Given the description of an element on the screen output the (x, y) to click on. 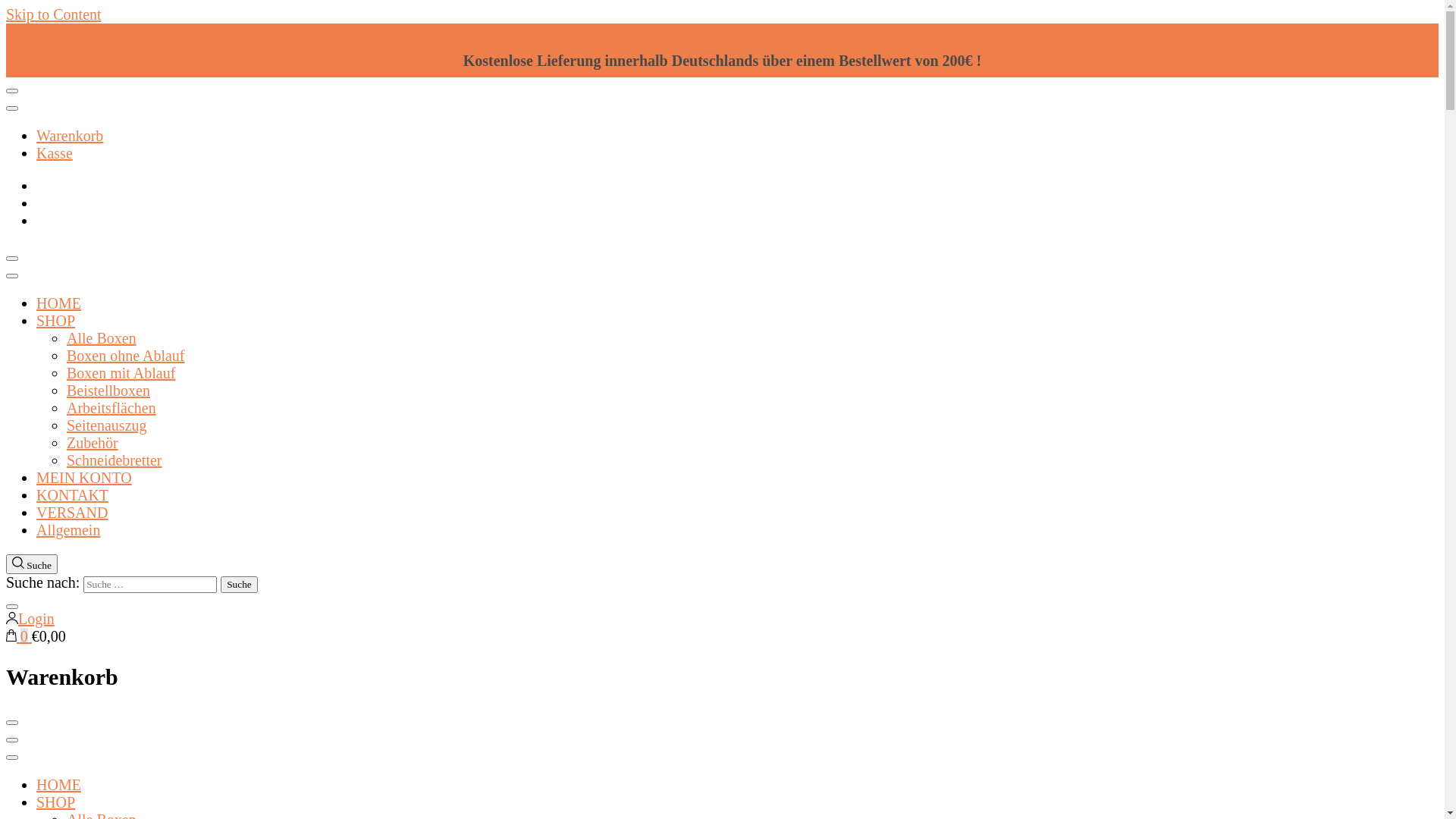
XOBI Element type: text (24, 268)
SHOP Element type: text (55, 320)
0 Element type: text (18, 635)
Beistellboxen Element type: text (108, 390)
Alle Boxen Element type: text (101, 337)
MEIN KONTO Element type: text (83, 477)
Warenkorb Element type: text (69, 135)
Kasse Element type: text (54, 152)
XOBI Element type: text (24, 732)
Suche Element type: text (238, 584)
Boxen ohne Ablauf Element type: text (125, 355)
Boxen mit Ablauf Element type: text (120, 372)
Suche Element type: text (31, 564)
Skip to Content Element type: text (53, 14)
HOME Element type: text (58, 784)
VERSAND Element type: text (71, 512)
SHOP Element type: text (55, 801)
Schneidebretter Element type: text (114, 459)
Login Element type: text (30, 618)
HOME Element type: text (58, 302)
Allgemein Element type: text (68, 529)
KONTAKT Element type: text (72, 494)
Seitenauszug Element type: text (106, 425)
